Given the description of an element on the screen output the (x, y) to click on. 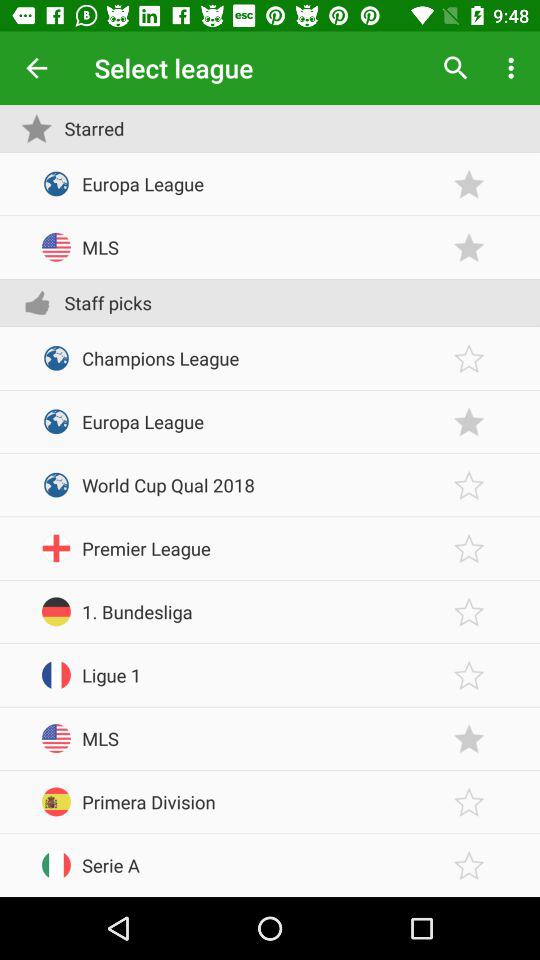
add to favorites (469, 421)
